Given the description of an element on the screen output the (x, y) to click on. 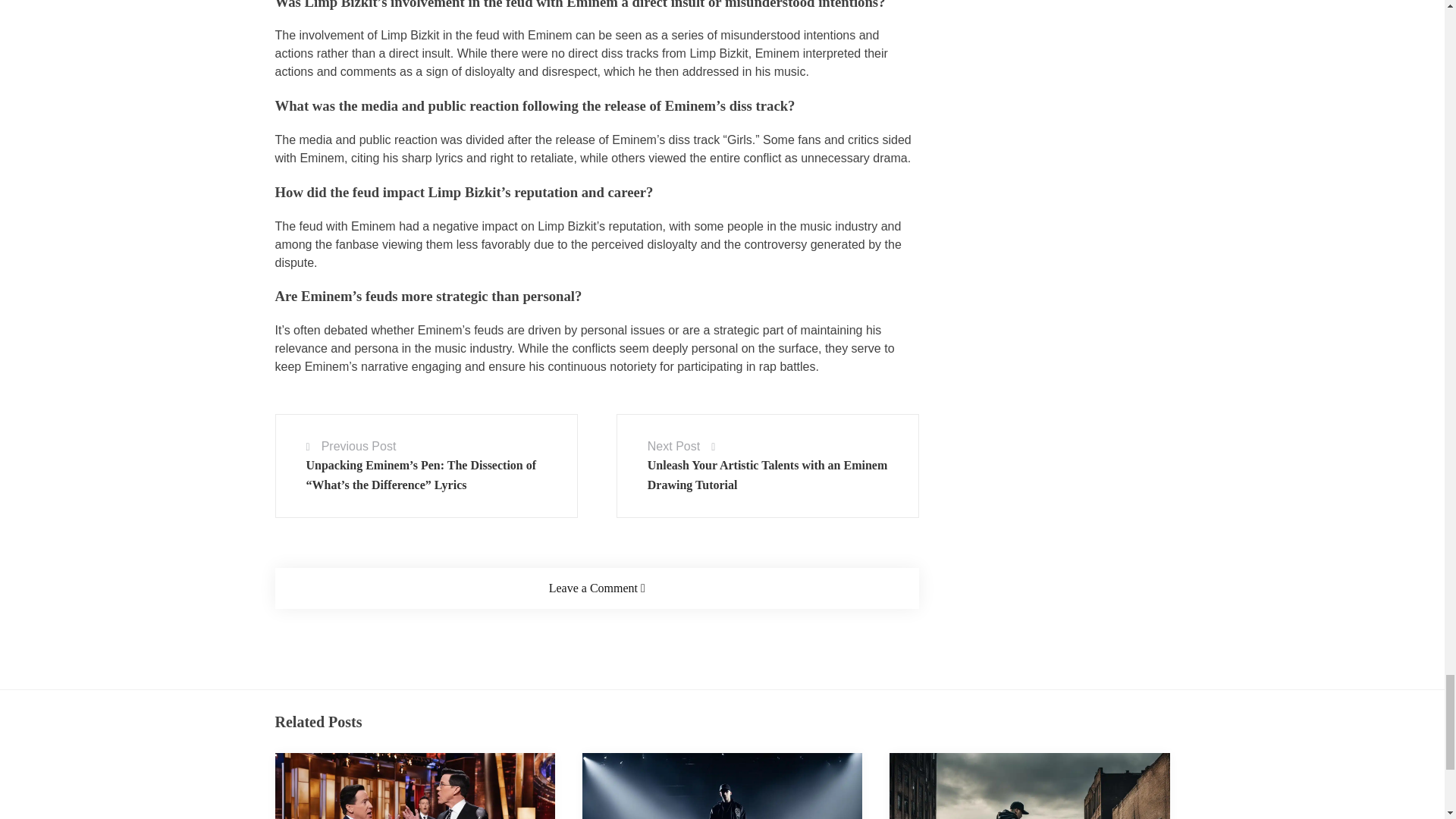
Previous Post (358, 445)
Next Post (673, 445)
